Given the description of an element on the screen output the (x, y) to click on. 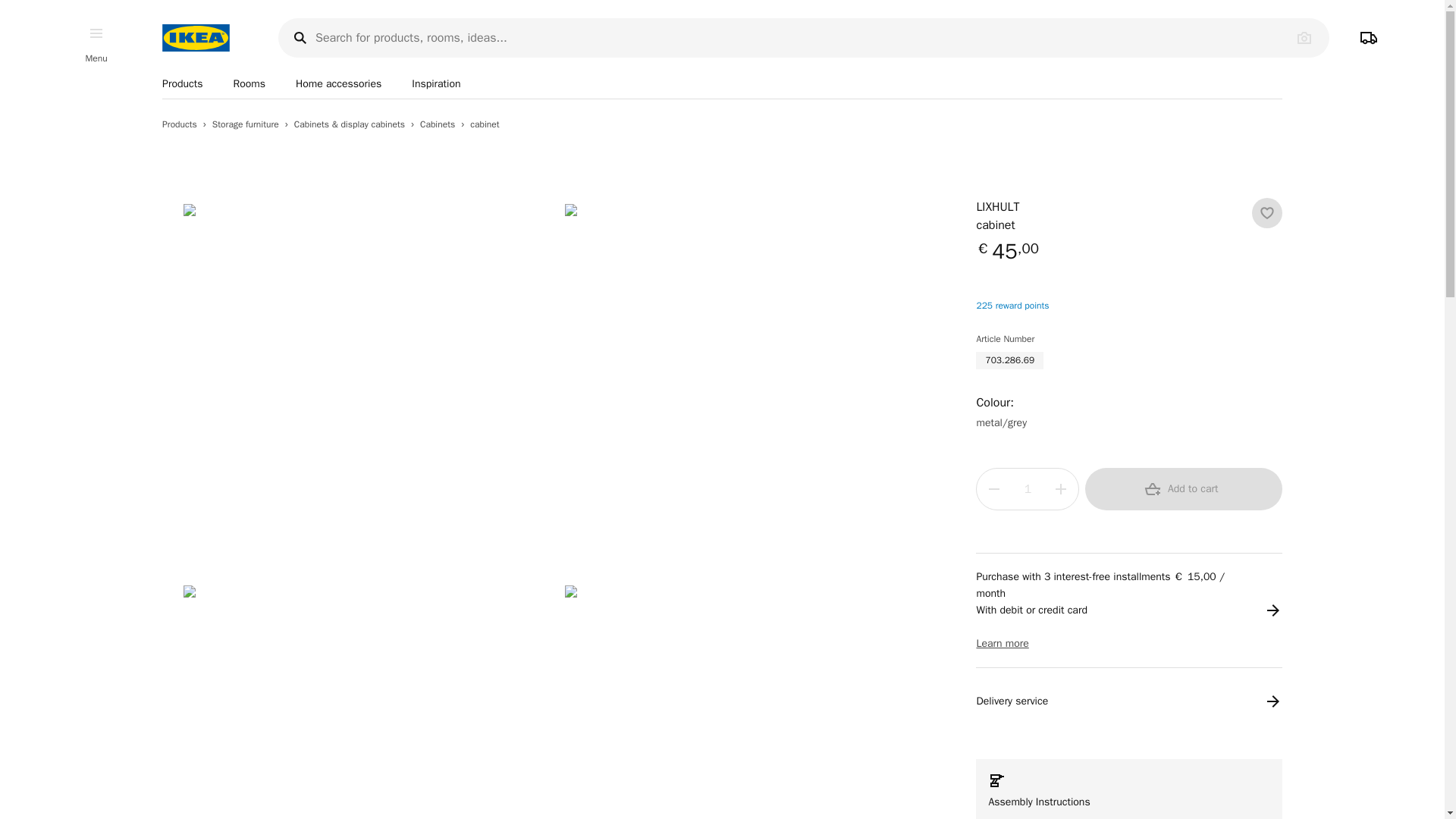
Search Box Photo Title (1304, 37)
Order Tracking (1369, 37)
Inspiration (436, 83)
Inspiration (436, 83)
Products (181, 83)
1 (1027, 488)
Rooms (248, 83)
Home accessories  (338, 83)
Menu (95, 58)
Burger Menu (96, 33)
